Given the description of an element on the screen output the (x, y) to click on. 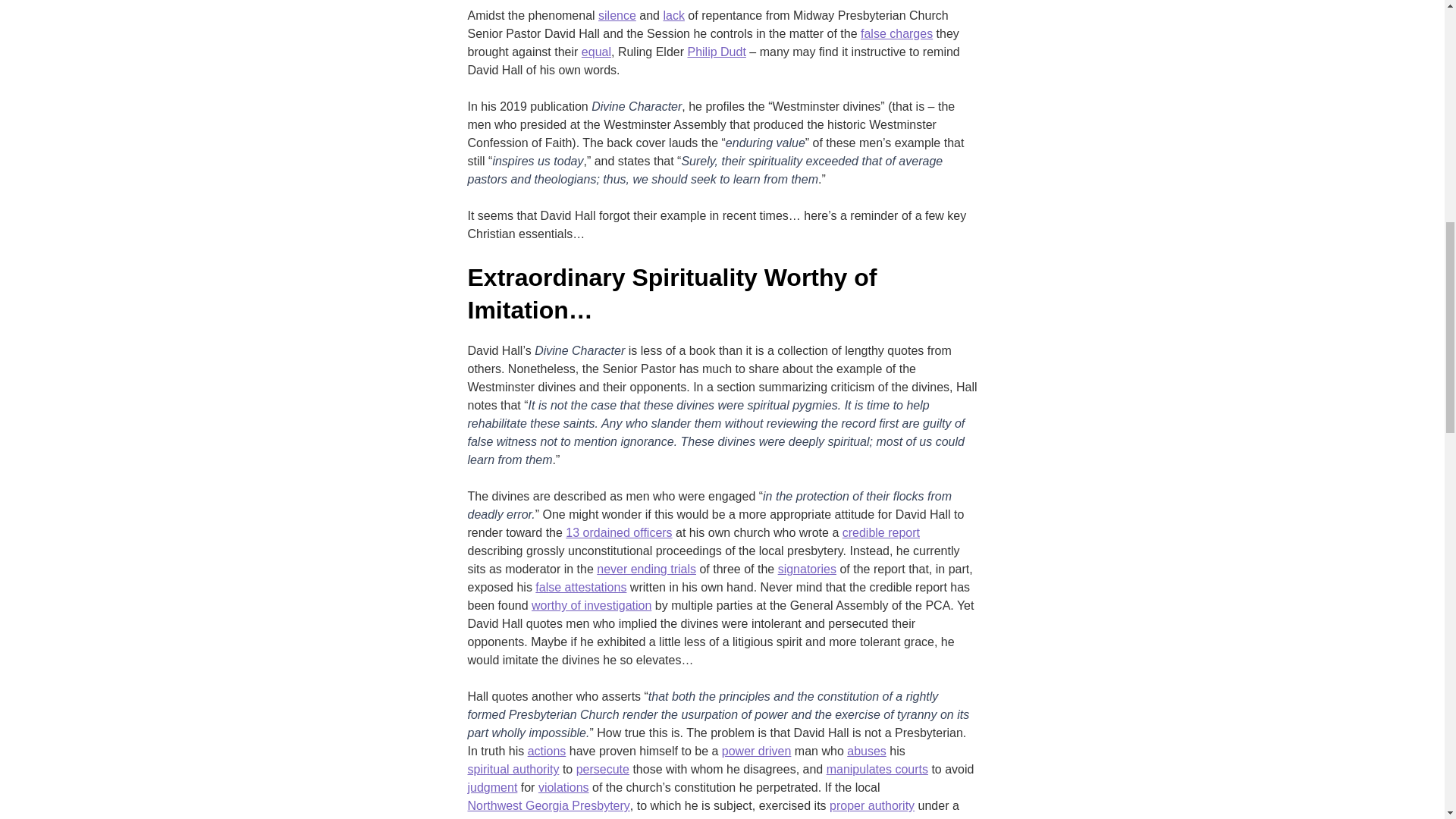
proper authority (871, 805)
13 ordained officers (618, 533)
credible report (881, 533)
worthy of investigation (590, 606)
abuses (866, 751)
Northwest Georgia Presbytery (547, 805)
false charges (896, 34)
spiritual authority (513, 769)
silence (617, 15)
signatories (806, 569)
never ending trials (645, 569)
manipulates courts (877, 769)
judgment (491, 787)
lack (673, 15)
Philip Dudt (716, 52)
